Given the description of an element on the screen output the (x, y) to click on. 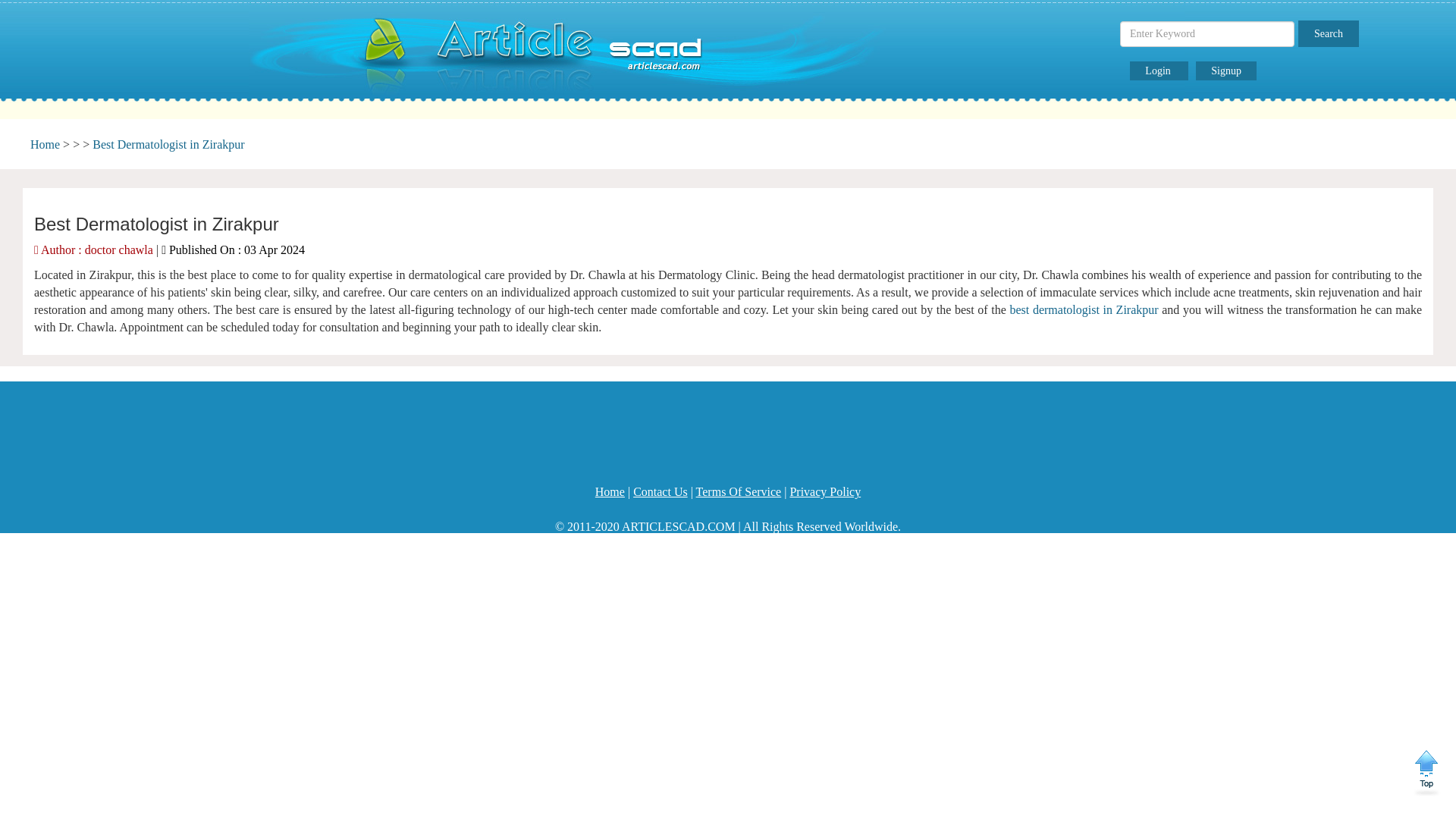
best dermatologist in Zirakpur (1084, 309)
Home (44, 144)
Search (1328, 33)
Home (609, 491)
Terms Of Service (738, 491)
Login (1158, 70)
Signup (1225, 70)
Privacy Policy (824, 491)
Best Dermatologist in Zirakpur (168, 144)
Search (1328, 33)
Contact Us (660, 491)
